Given the description of an element on the screen output the (x, y) to click on. 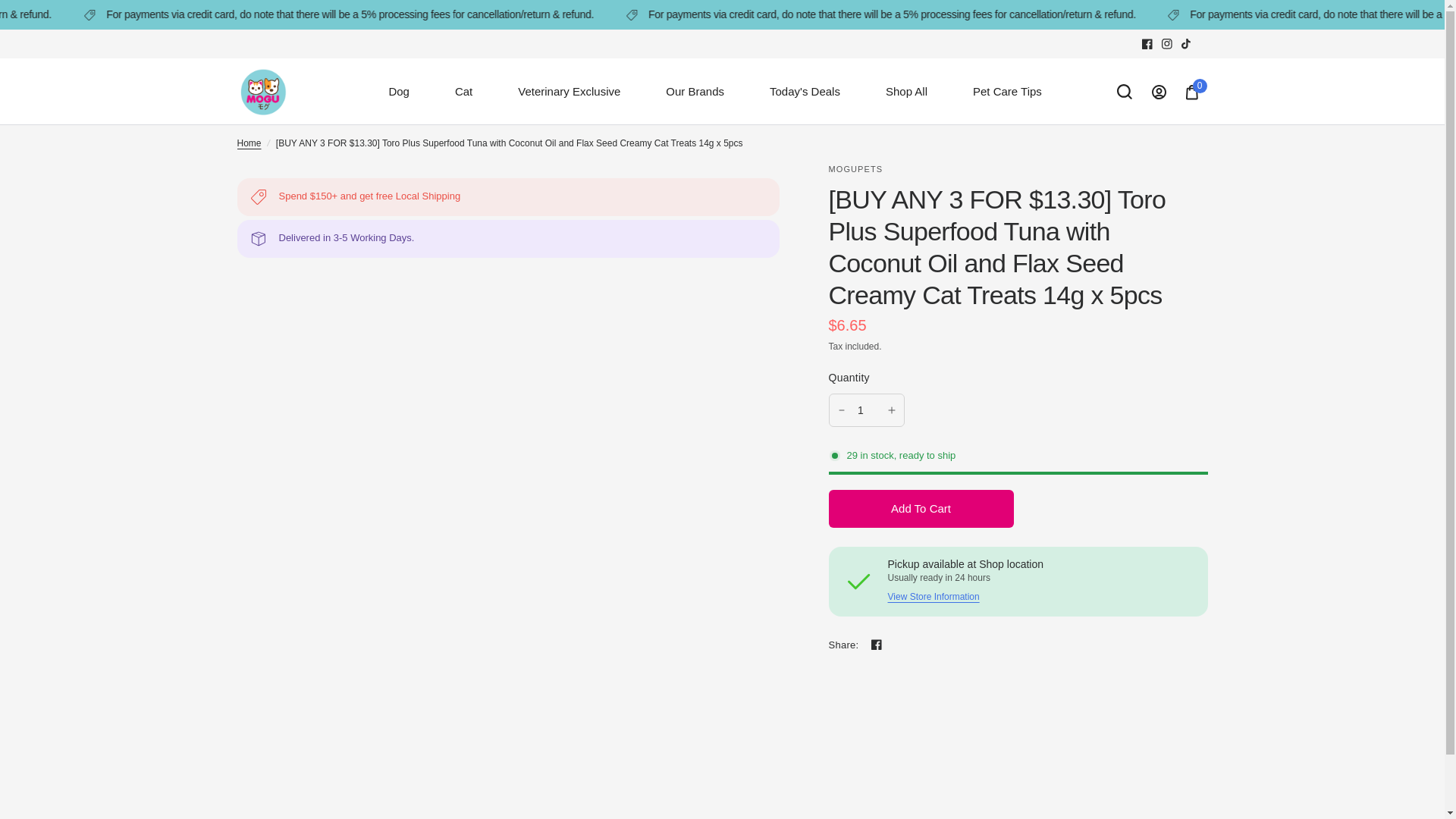
Facebook (1147, 44)
TikTok (1186, 44)
Instagram (1166, 44)
